Given the description of an element on the screen output the (x, y) to click on. 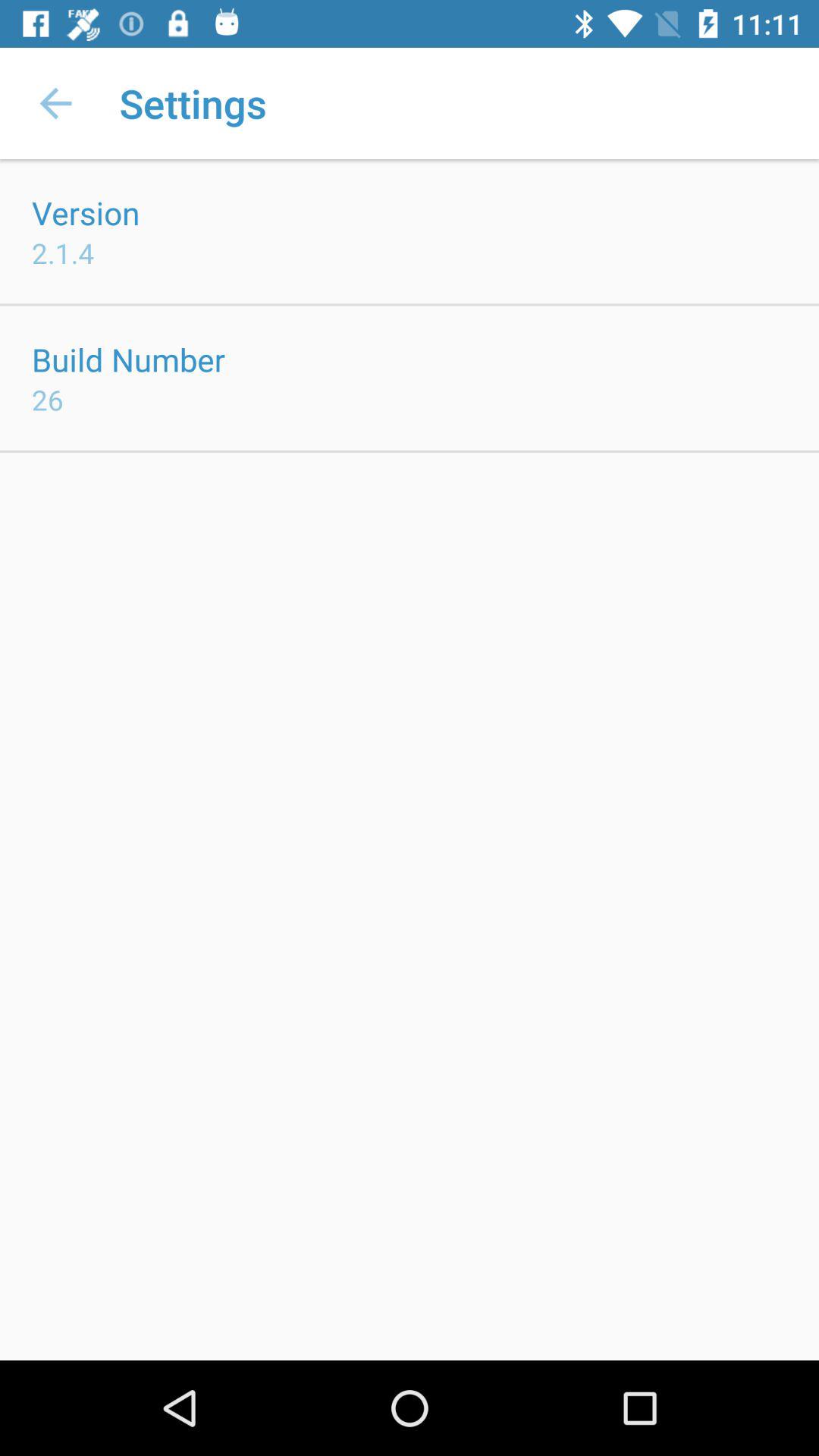
select build number item (128, 359)
